Given the description of an element on the screen output the (x, y) to click on. 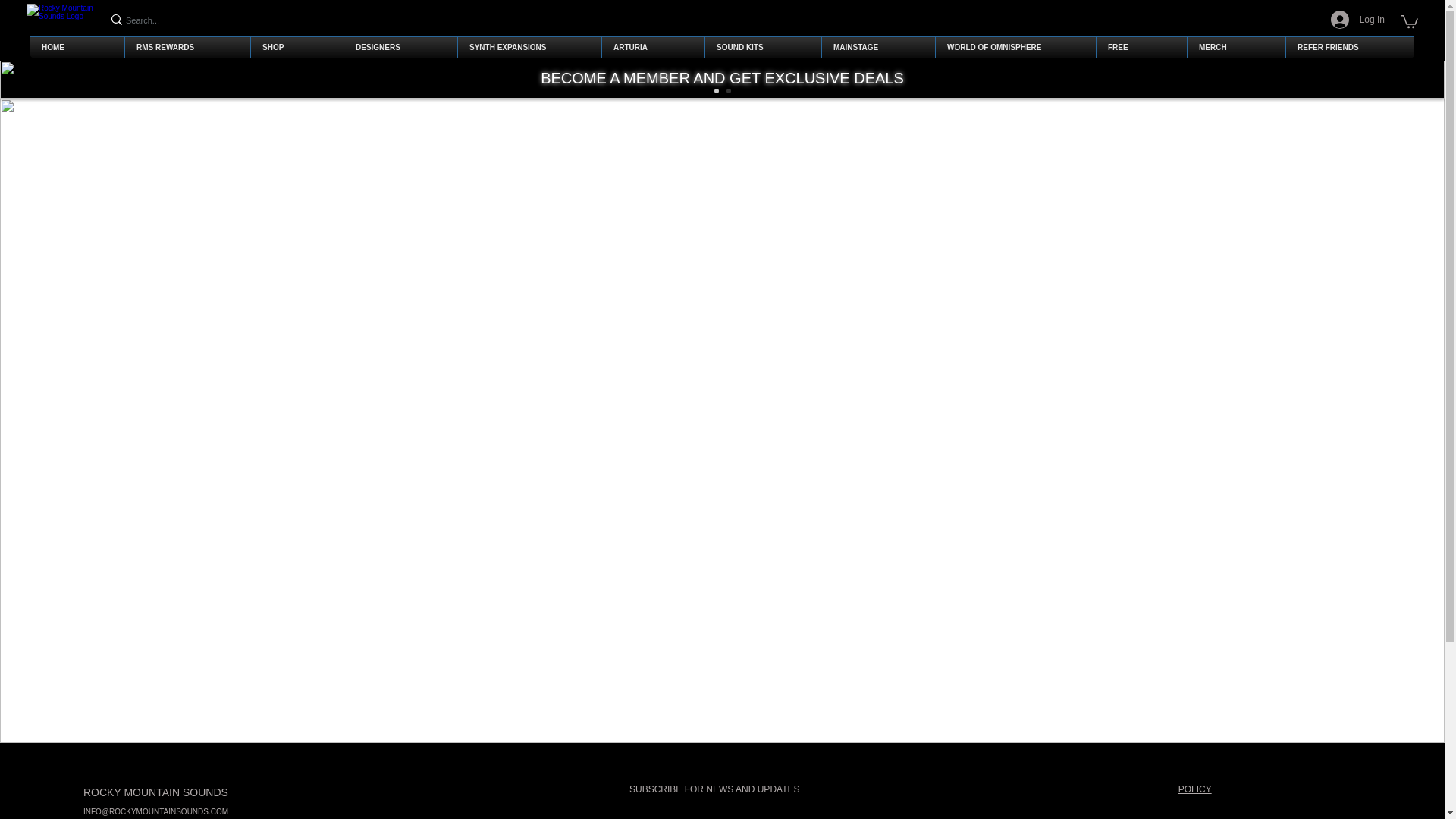
HOME (76, 46)
SHOP (296, 46)
RMS REWARDS (187, 46)
Log In (1357, 19)
